Given the description of an element on the screen output the (x, y) to click on. 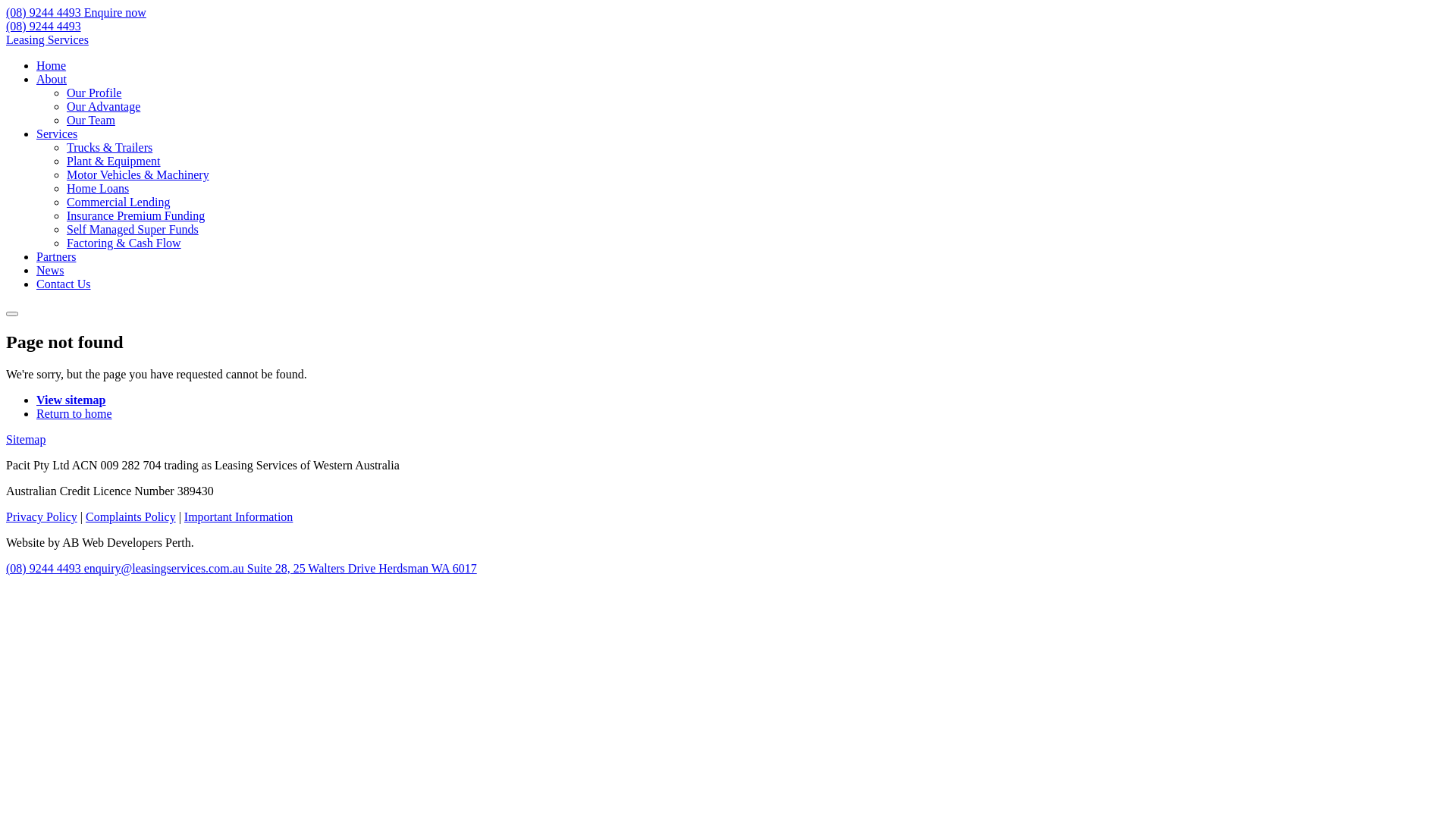
Return to home Element type: text (74, 413)
Partners Element type: text (55, 256)
Our Team Element type: text (90, 119)
Leasing Services Element type: text (47, 39)
Contact Us Element type: text (63, 283)
About Element type: text (51, 78)
Sitemap Element type: text (25, 439)
Complaints Policy Element type: text (130, 516)
Privacy Policy Element type: text (41, 516)
Our Advantage Element type: text (103, 106)
Plant & Equipment Element type: text (113, 160)
Services Element type: text (56, 133)
enquiry@leasingservices.com.au Element type: text (165, 567)
Factoring & Cash Flow Element type: text (123, 242)
(08) 9244 4493 Element type: text (43, 25)
Home Element type: text (50, 65)
Self Managed Super Funds Element type: text (132, 228)
Motor Vehicles & Machinery Element type: text (137, 174)
(08) 9244 4493 Element type: text (45, 12)
Our Profile Element type: text (93, 92)
Suite 28, 25 Walters Drive Herdsman WA 6017 Element type: text (361, 567)
Enquire now Element type: text (115, 12)
(08) 9244 4493 Element type: text (45, 567)
View sitemap Element type: text (70, 399)
News Element type: text (49, 269)
Trucks & Trailers Element type: text (109, 147)
Commercial Lending Element type: text (117, 201)
Home Loans Element type: text (97, 188)
Important Information Element type: text (238, 516)
Insurance Premium Funding Element type: text (135, 215)
